Given the description of an element on the screen output the (x, y) to click on. 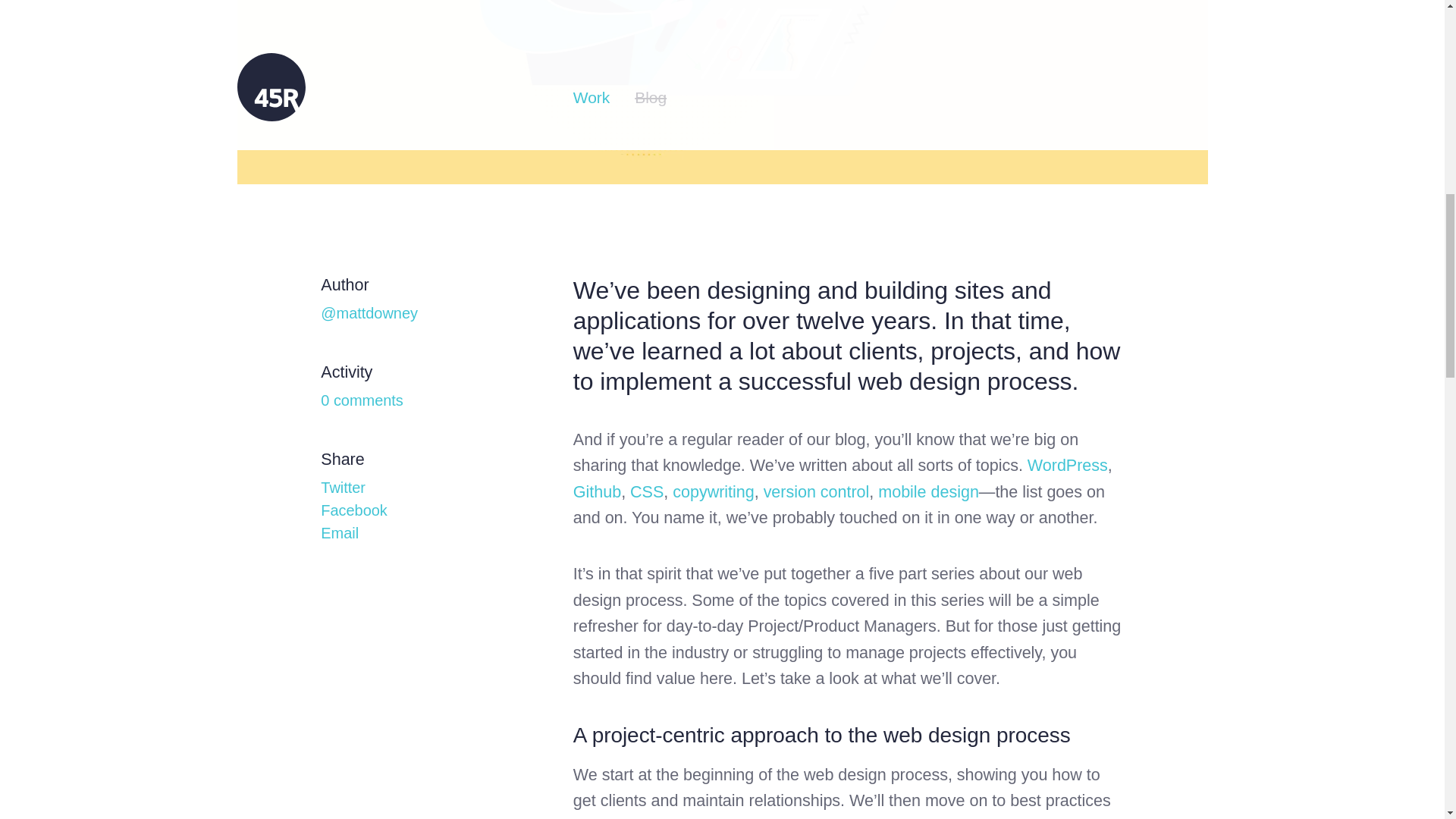
copywriting (713, 491)
0 comments (361, 400)
version control (815, 491)
CSS (646, 491)
WordPress (1067, 465)
mobile design (927, 491)
Twitter (342, 487)
Email (339, 532)
Github (597, 491)
Facebook (353, 510)
